Given the description of an element on the screen output the (x, y) to click on. 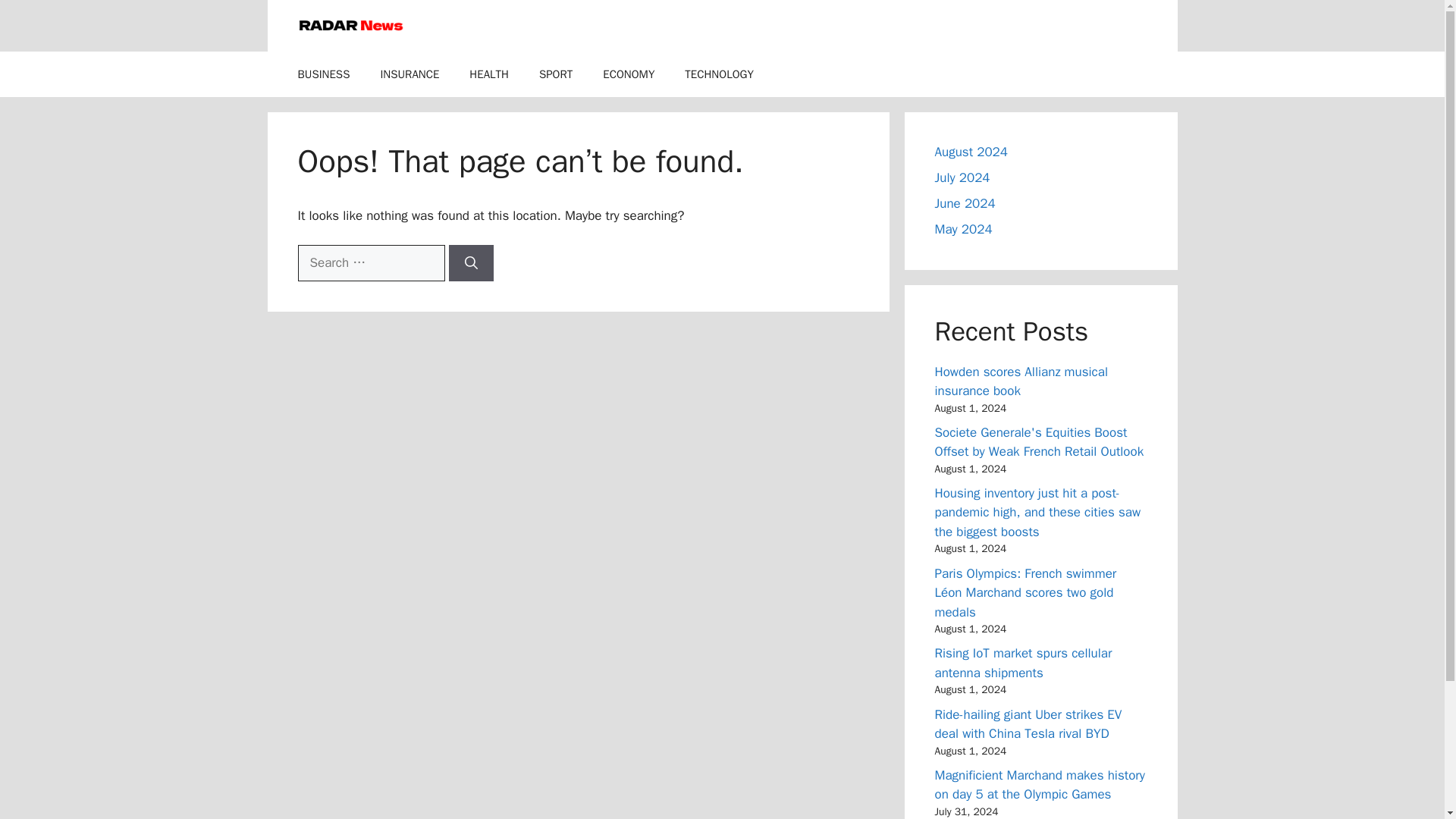
TECHNOLOGY (718, 74)
INSURANCE (409, 74)
June 2024 (964, 203)
ECONOMY (628, 74)
BUSINESS (323, 74)
Search for: (370, 262)
August 2024 (970, 151)
SPORT (556, 74)
HEALTH (489, 74)
Howden scores Allianz musical insurance book (1021, 381)
July 2024 (962, 177)
